Given the description of an element on the screen output the (x, y) to click on. 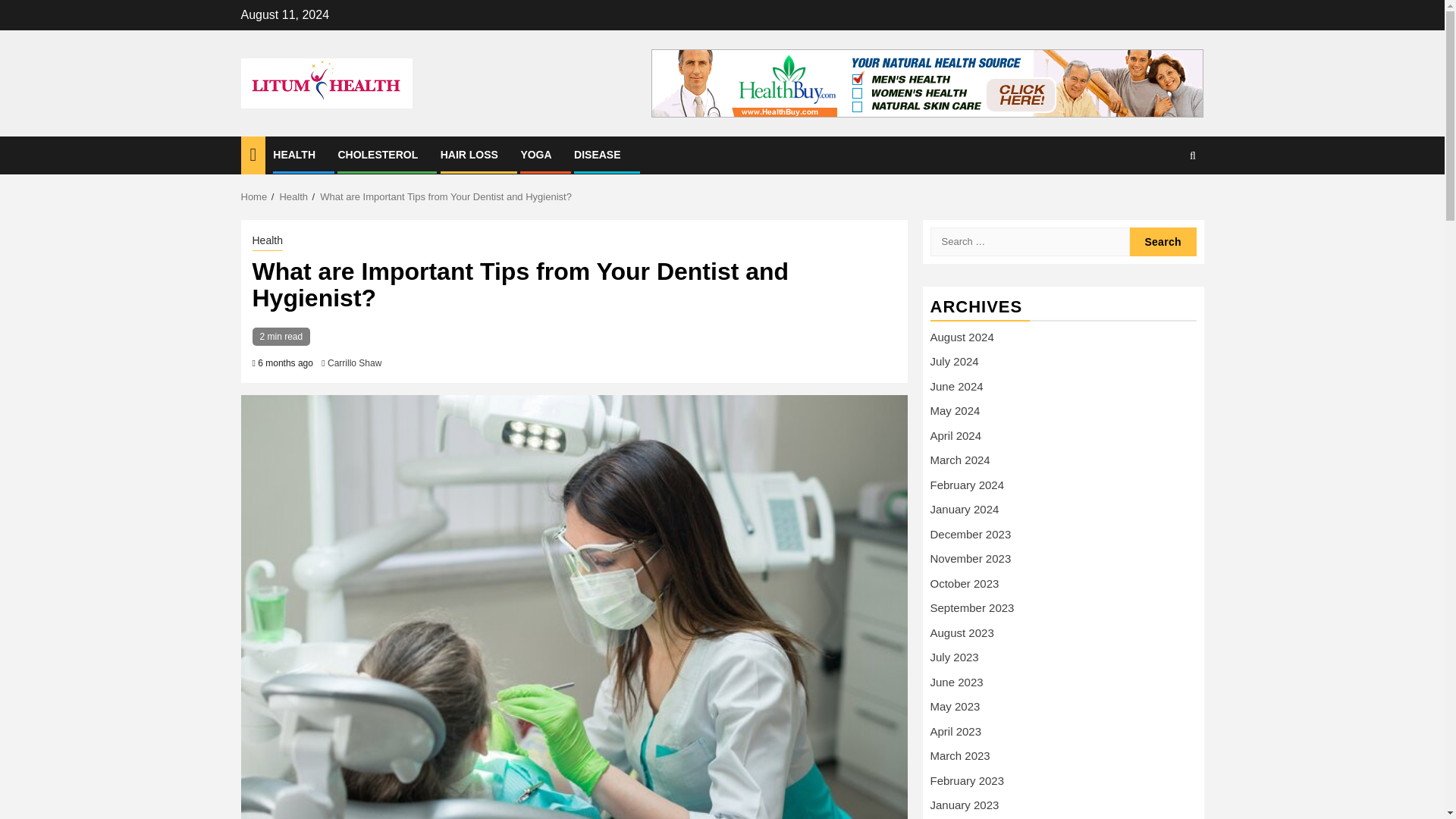
July 2024 (954, 360)
Search (1162, 241)
Health (293, 196)
Health (266, 240)
DISEASE (596, 154)
Search (1163, 201)
YOGA (535, 154)
HAIR LOSS (469, 154)
Carrillo Shaw (354, 362)
CHOLESTEROL (377, 154)
